Given the description of an element on the screen output the (x, y) to click on. 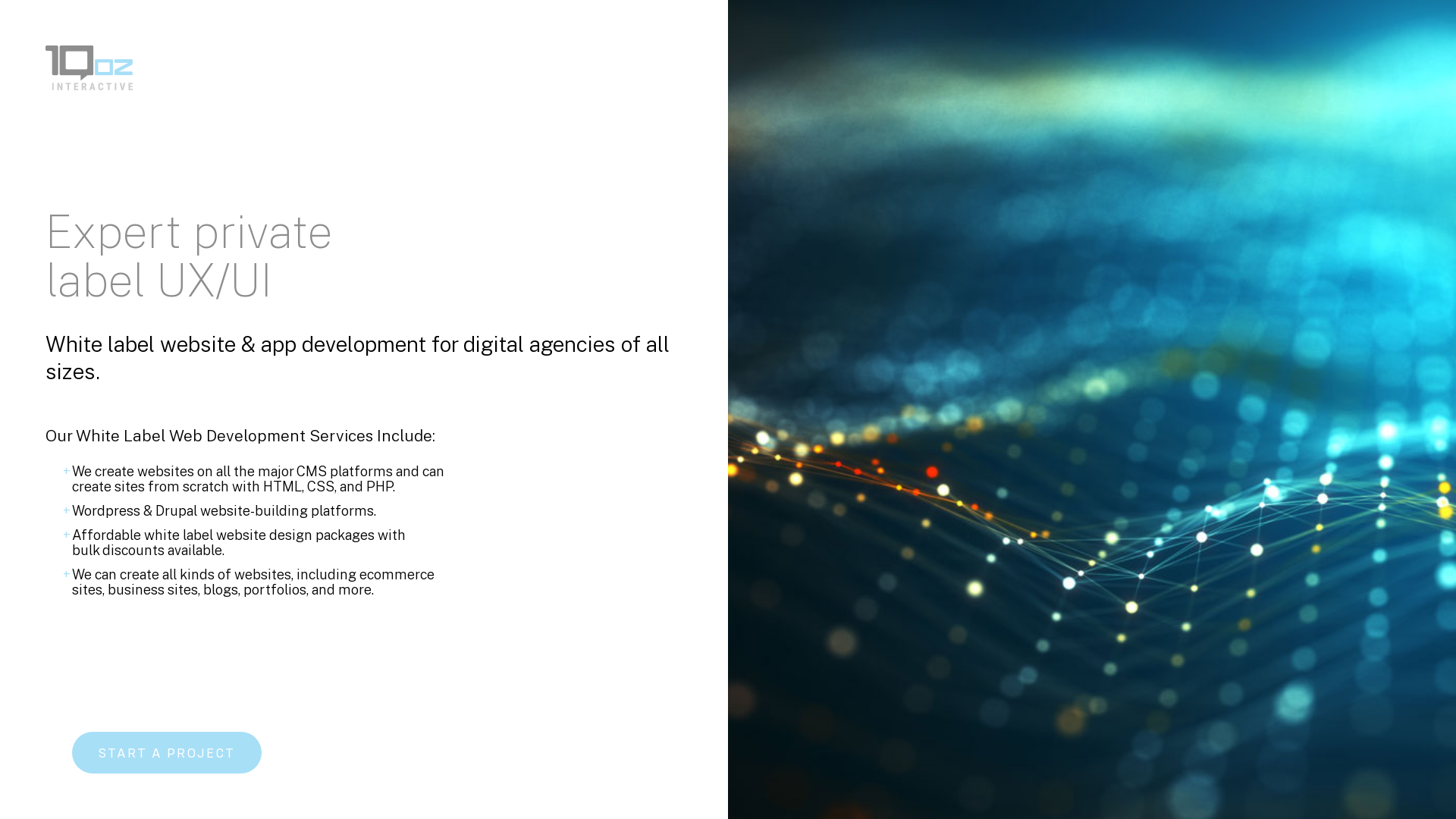
START A PROJECT Element type: text (166, 752)
